Given the description of an element on the screen output the (x, y) to click on. 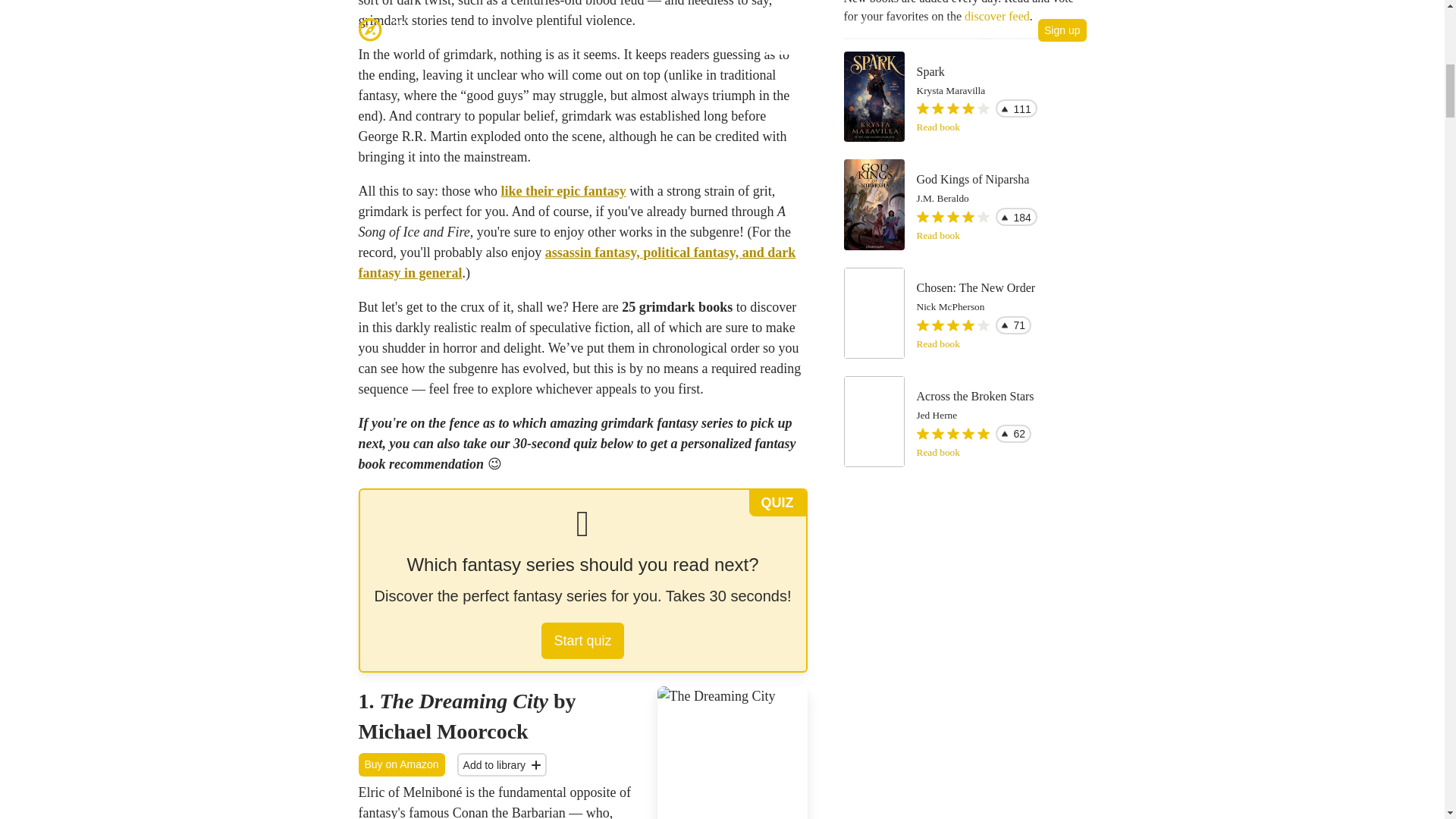
Add to library (502, 764)
like their epic fantasy (563, 191)
Start quiz (582, 640)
Buy on Amazon (401, 764)
